Given the description of an element on the screen output the (x, y) to click on. 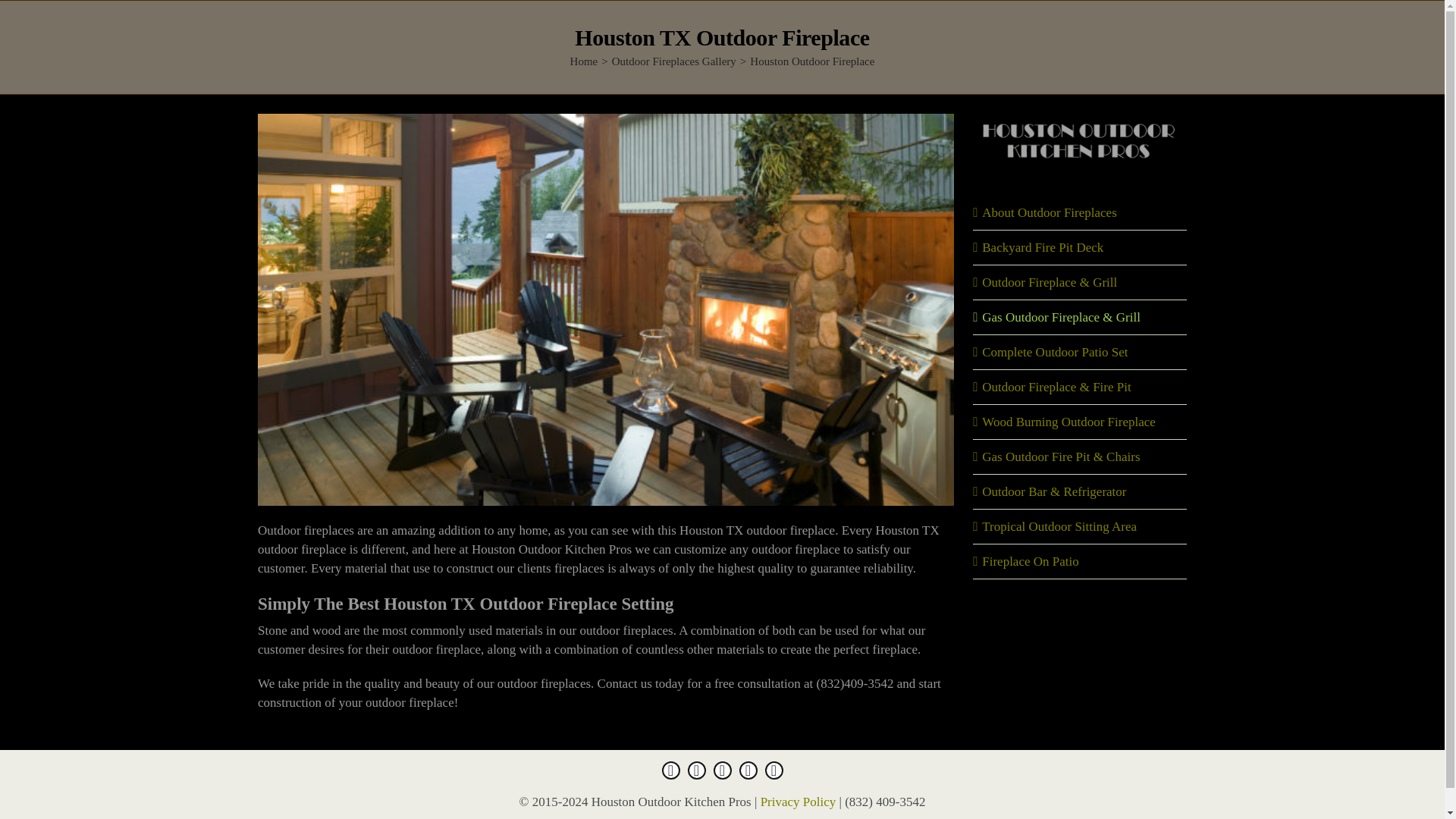
Outdoor Fireplaces Gallery (673, 61)
Complete Outdoor Patio Set (1053, 351)
Backyard Fire Pit Deck (1042, 247)
About Outdoor Fireplaces (1048, 212)
Fireplace On Patio (1029, 561)
Privacy Policy (797, 801)
Tropical Outdoor Sitting Area (1059, 526)
Home (584, 61)
Wood Burning Outdoor Fireplace (1068, 421)
